Given the description of an element on the screen output the (x, y) to click on. 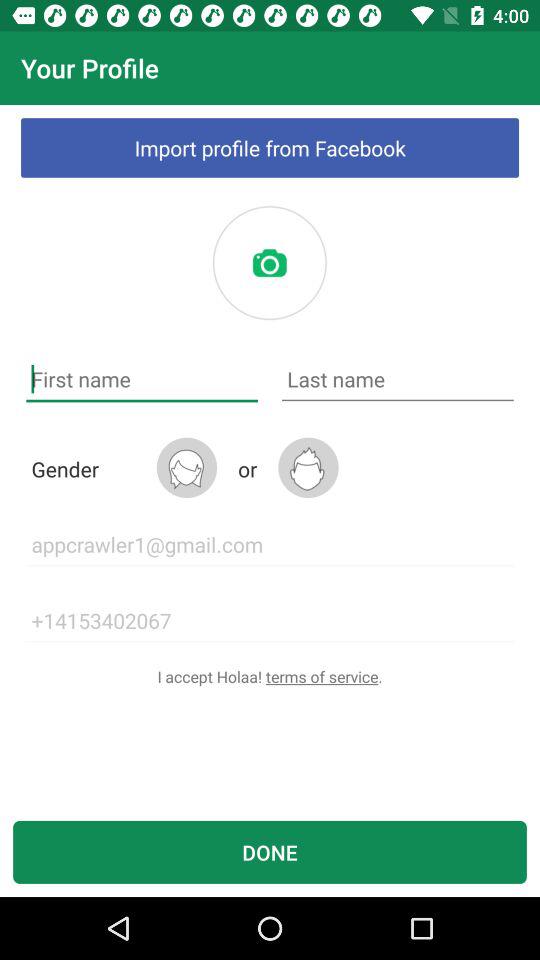
add last name (397, 379)
